Given the description of an element on the screen output the (x, y) to click on. 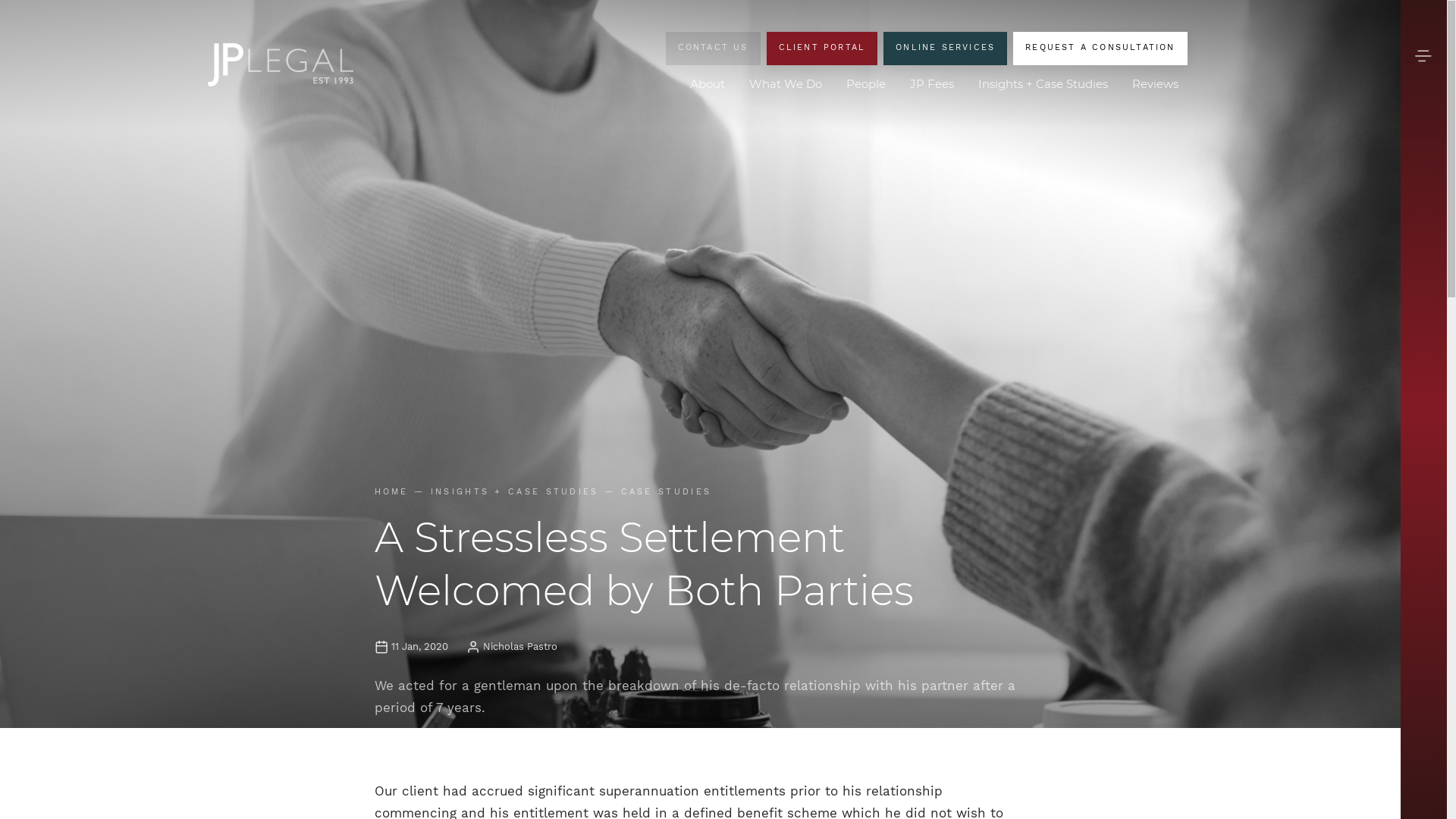
INSIGHTS + CASE STUDIES Element type: text (514, 491)
ONLINE SERVICES Element type: text (945, 48)
CONTACT US Element type: text (712, 48)
JP Fees Element type: text (931, 84)
Skip to content Element type: text (0, 0)
CASE STUDIES Element type: text (666, 491)
What We Do Element type: text (785, 84)
About Element type: text (707, 84)
HOME Element type: text (391, 491)
Insights + Case Studies Element type: text (1043, 84)
People Element type: text (865, 84)
CLIENT PORTAL Element type: text (822, 48)
REQUEST A CONSULTATION Element type: text (1099, 48)
Reviews Element type: text (1155, 84)
